Given the description of an element on the screen output the (x, y) to click on. 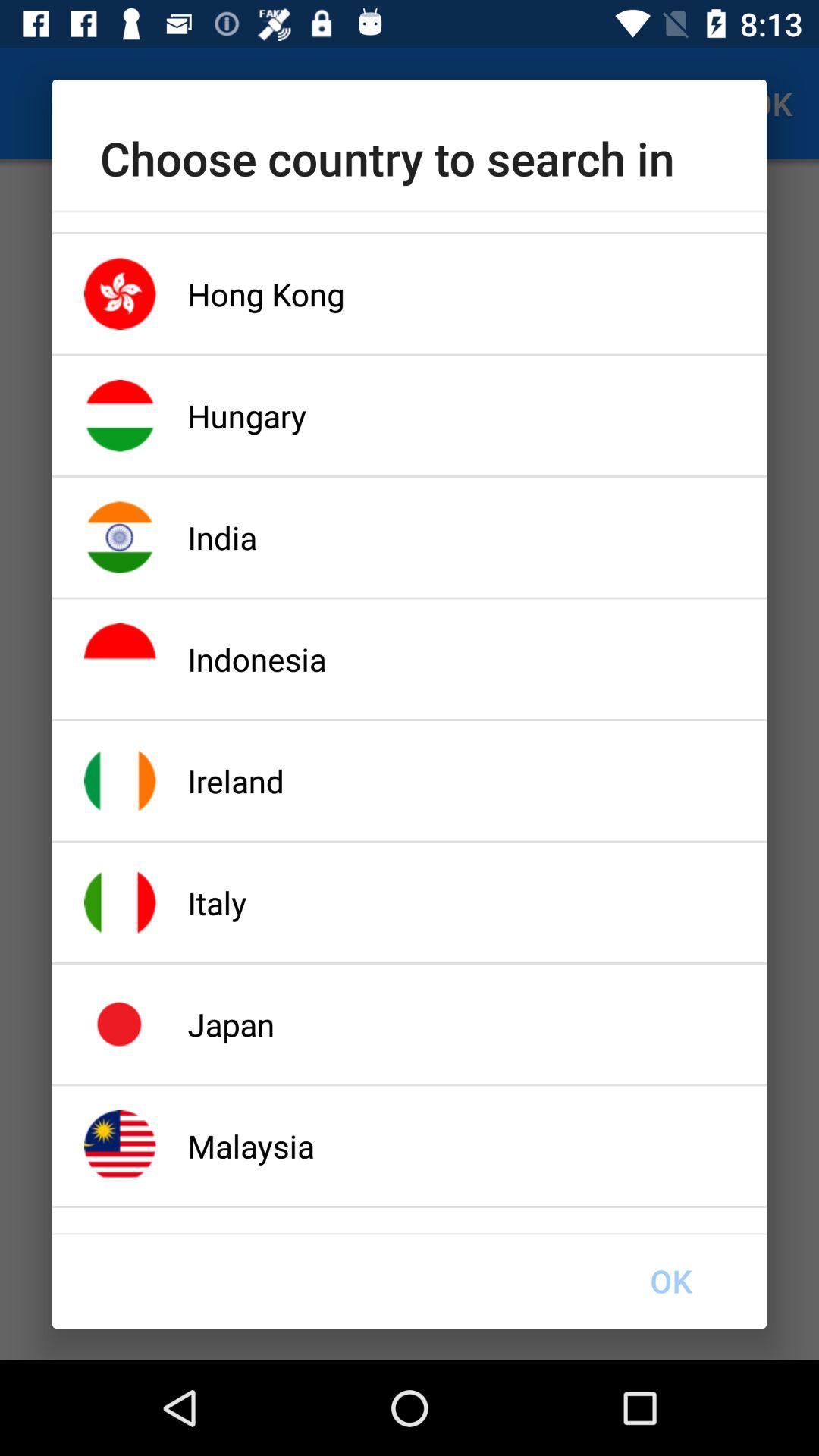
press the item below malaysia item (670, 1280)
